Given the description of an element on the screen output the (x, y) to click on. 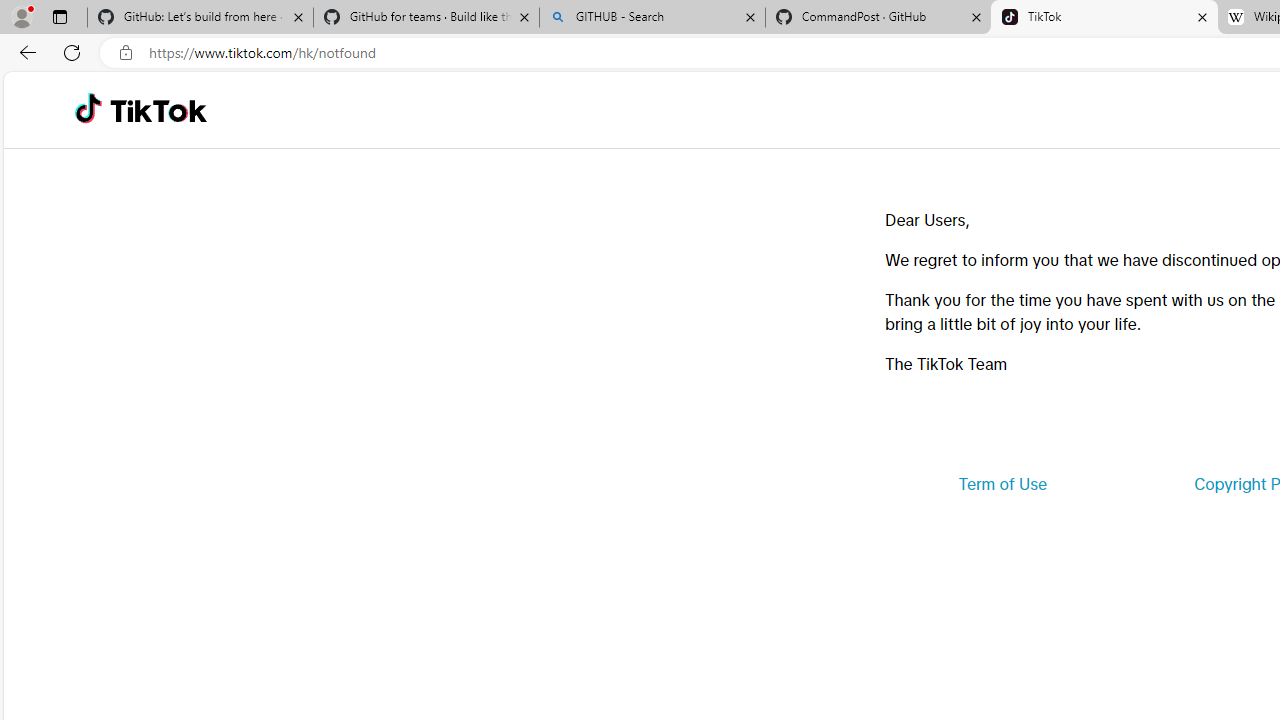
TikTok (158, 110)
Term of Use (1002, 484)
GITHUB - Search (652, 17)
TikTok (1104, 17)
